Given the description of an element on the screen output the (x, y) to click on. 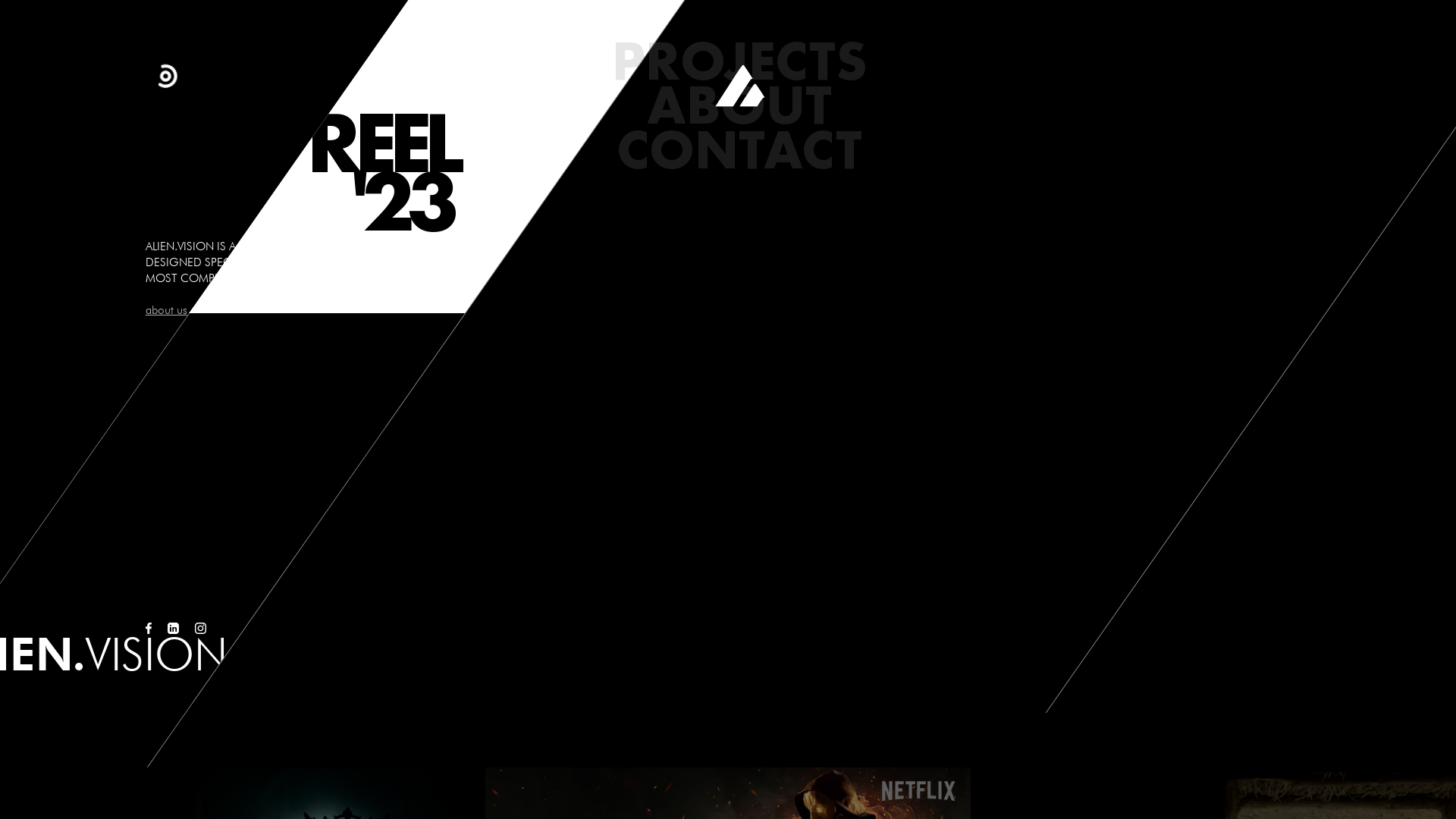
PROJECTS Element type: text (739, 60)
CONTACT Element type: text (739, 149)
ABOUT Element type: text (739, 104)
about us Element type: text (166, 309)
